Given the description of an element on the screen output the (x, y) to click on. 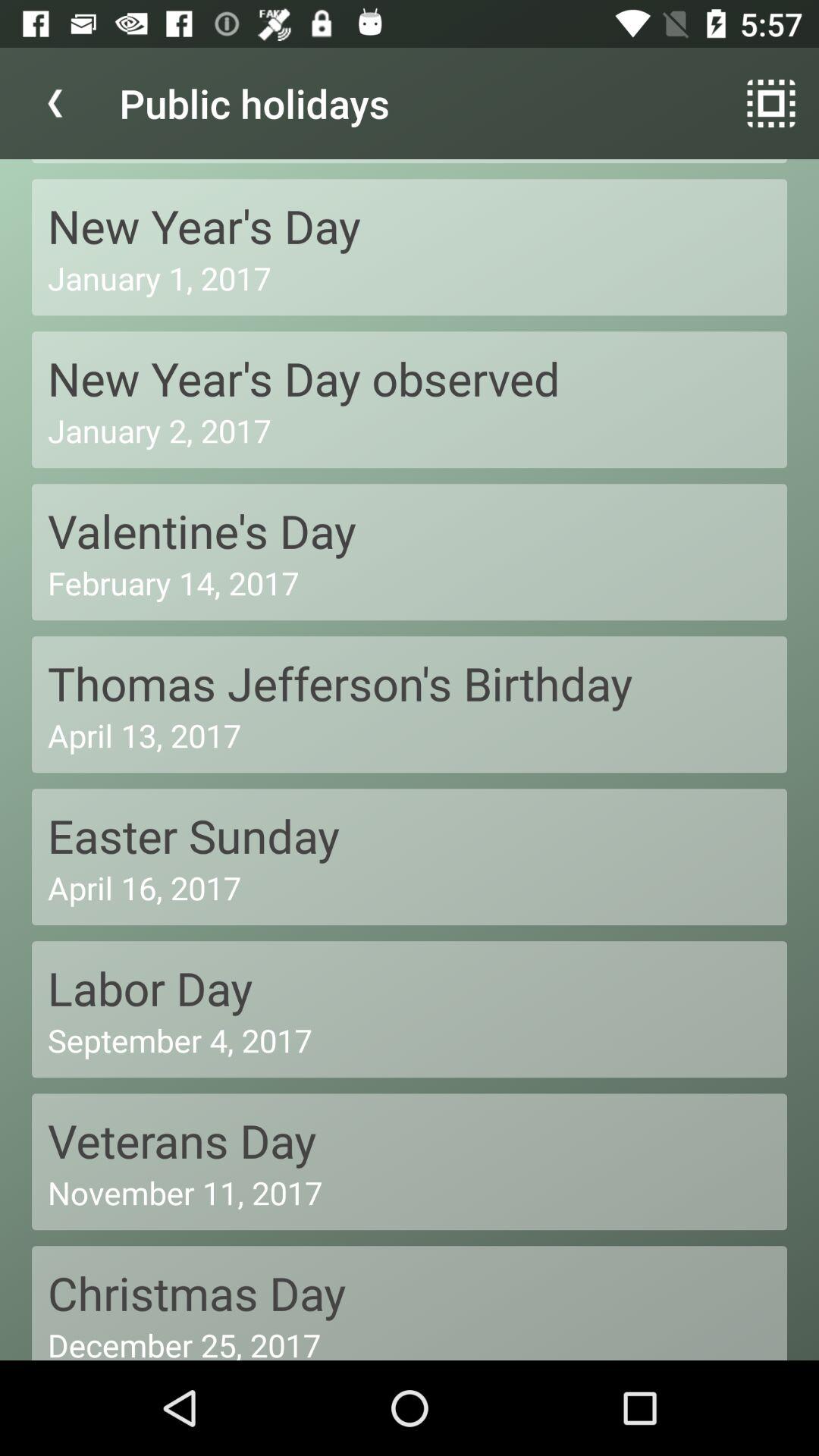
open the item above thomas jefferson s icon (409, 582)
